Given the description of an element on the screen output the (x, y) to click on. 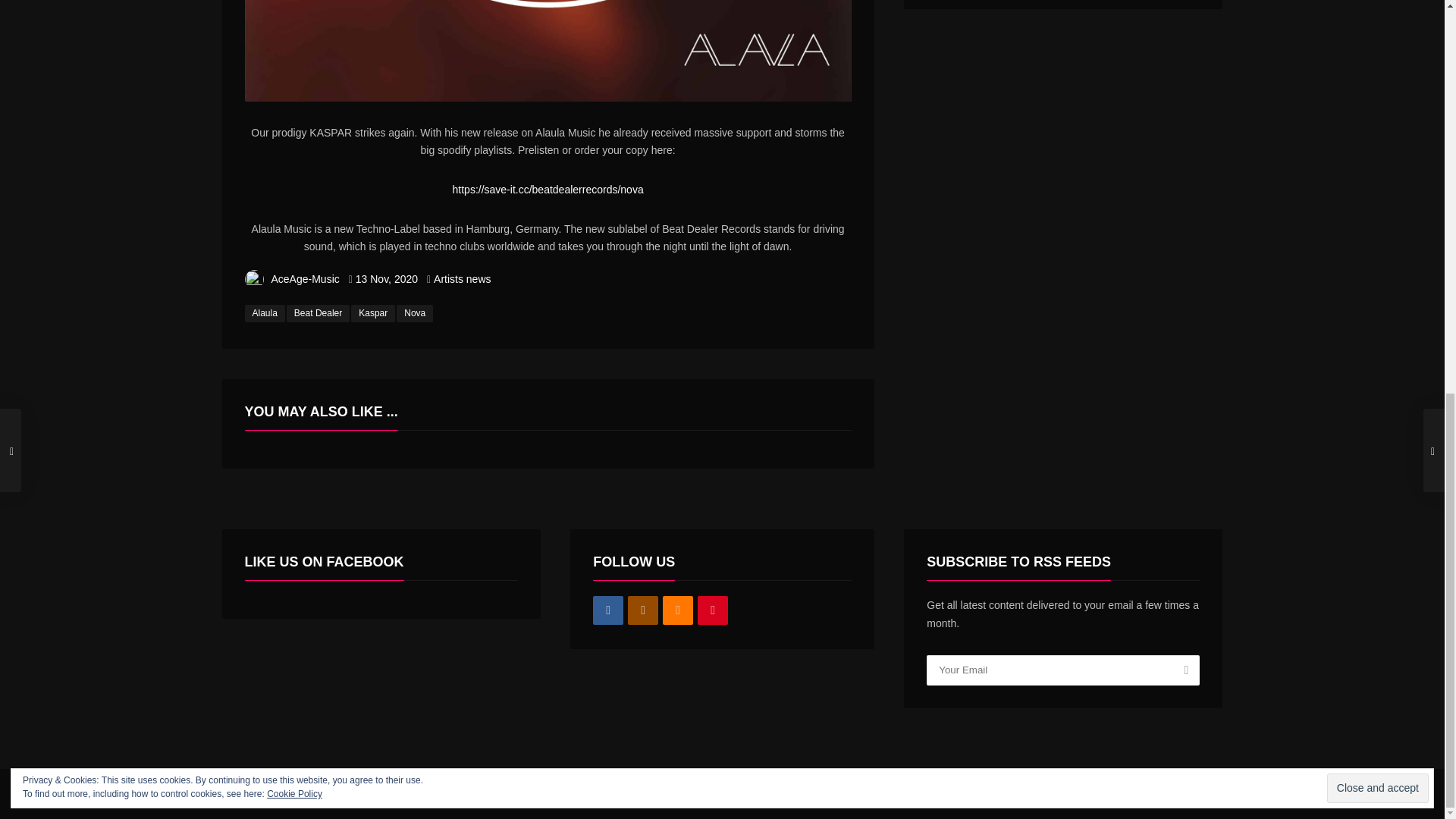
Kaspar (372, 313)
Beat Dealer (317, 313)
AceAge-Music (304, 278)
Youtube (712, 611)
Close and accept (1377, 32)
Facebook (607, 611)
Alaula (263, 313)
Soundcloud (677, 611)
13 Nov, 2020 (386, 278)
Nova (414, 313)
